Given the description of an element on the screen output the (x, y) to click on. 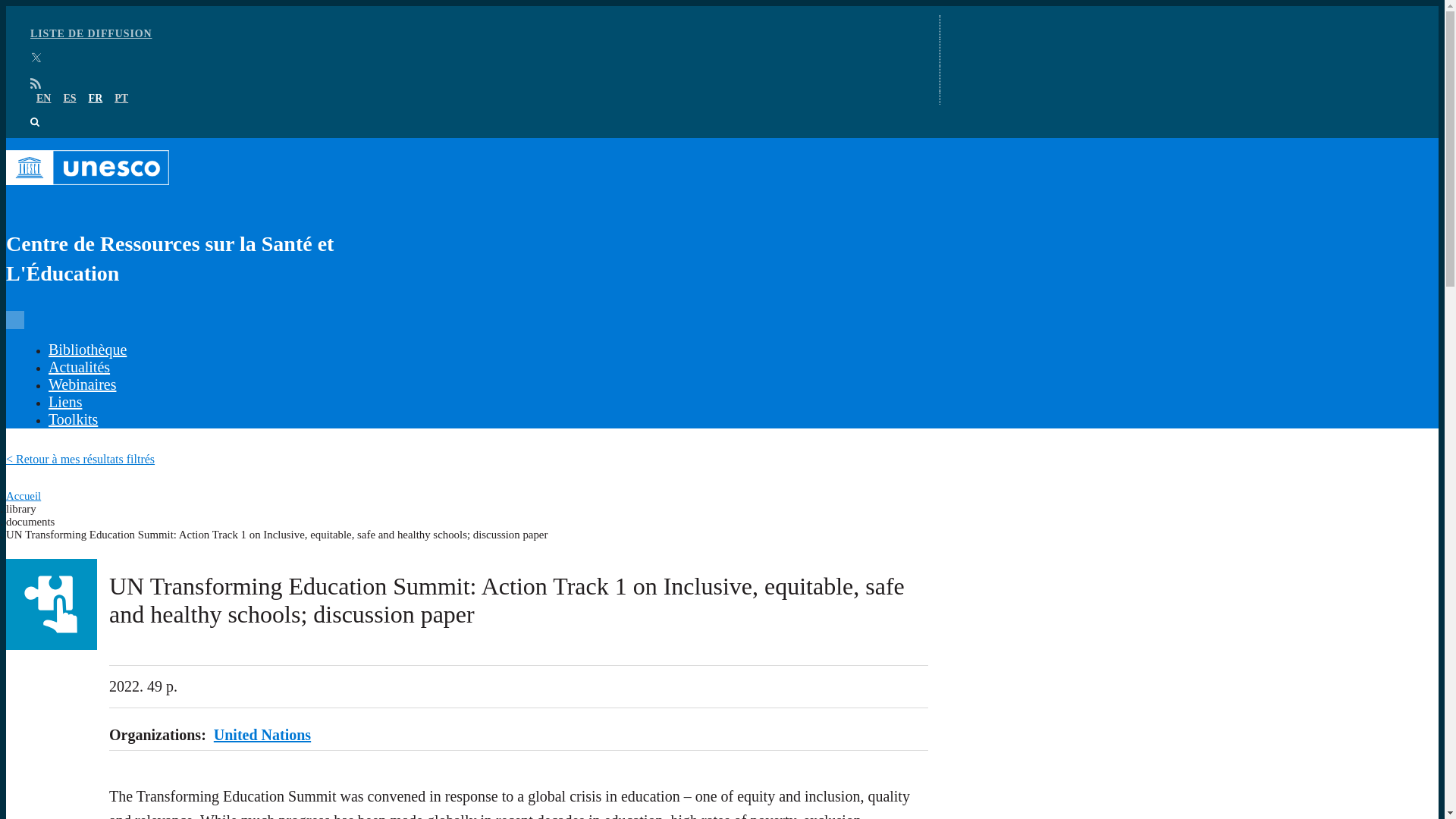
FR (95, 98)
Aller au contenu principal (722, 7)
LISTE DE DIFFUSION (91, 33)
Liens (64, 401)
Accueil (22, 495)
EN (43, 98)
ES (68, 98)
PT (121, 98)
Toolkits (72, 419)
Webinaires (82, 384)
United Nations (262, 734)
